Given the description of an element on the screen output the (x, y) to click on. 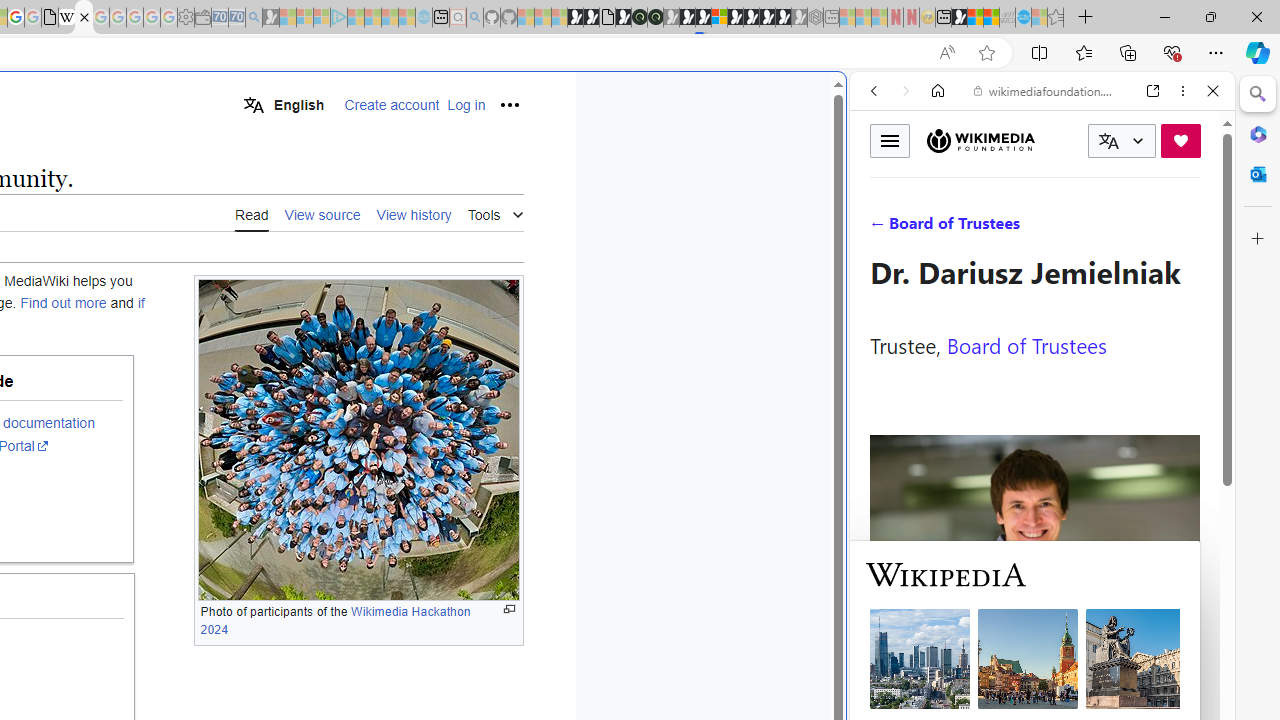
MediaWiki (83, 17)
